Given the description of an element on the screen output the (x, y) to click on. 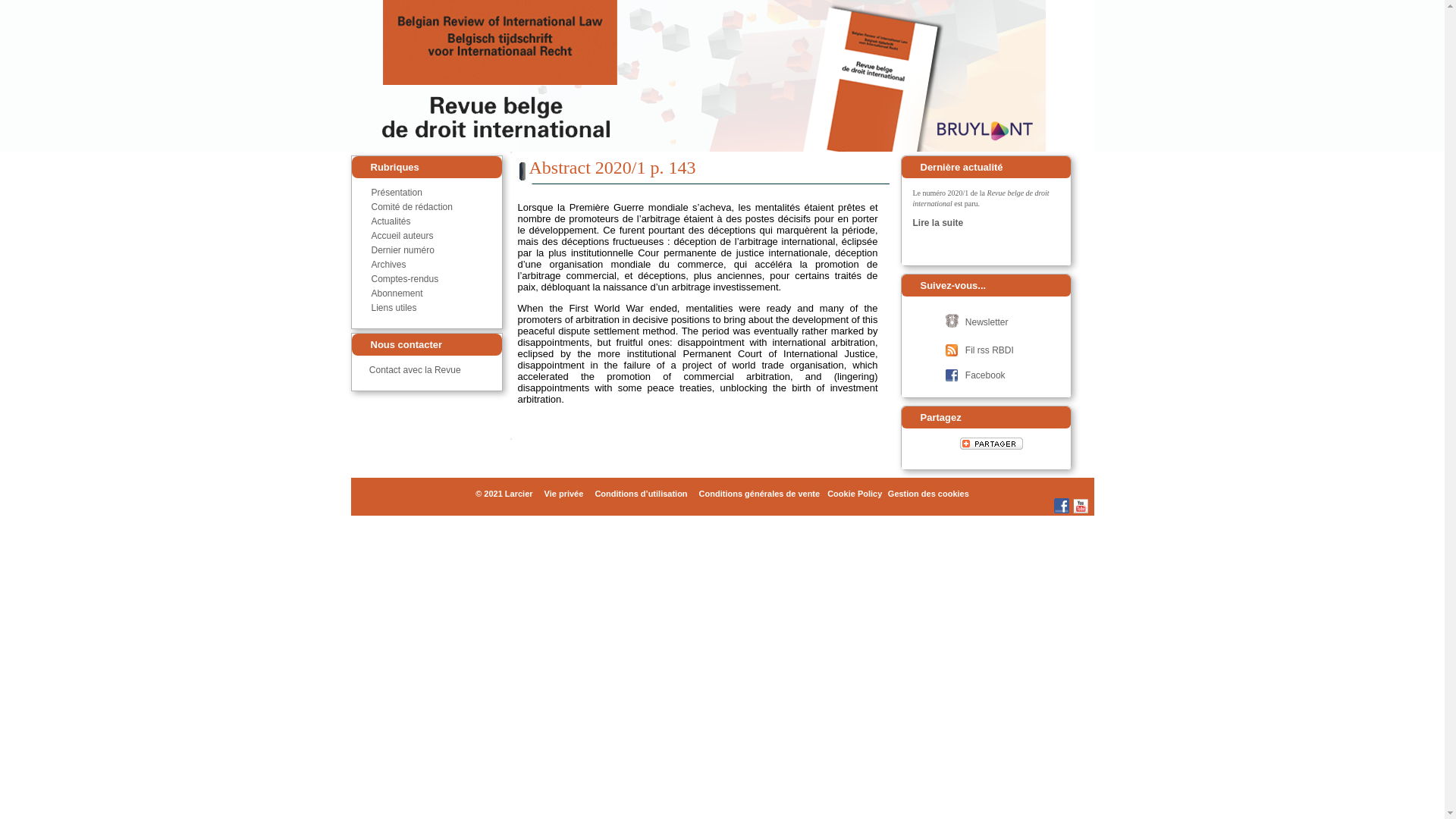
Comptes-rendus Element type: text (405, 278)
Abonnement Element type: text (397, 293)
Facebook  Element type: text (986, 375)
Gestion des cookies Element type: text (928, 493)
Archives Element type: text (388, 264)
Lire la suite Element type: text (938, 222)
Liens utiles Element type: text (394, 307)
Accueil auteurs Element type: text (402, 235)
Cookie Policy Element type: text (854, 493)
Newsletter Element type: text (986, 321)
Fil rss RBDI Element type: text (989, 350)
Contact avec la Revue Element type: text (415, 369)
